Given the description of an element on the screen output the (x, y) to click on. 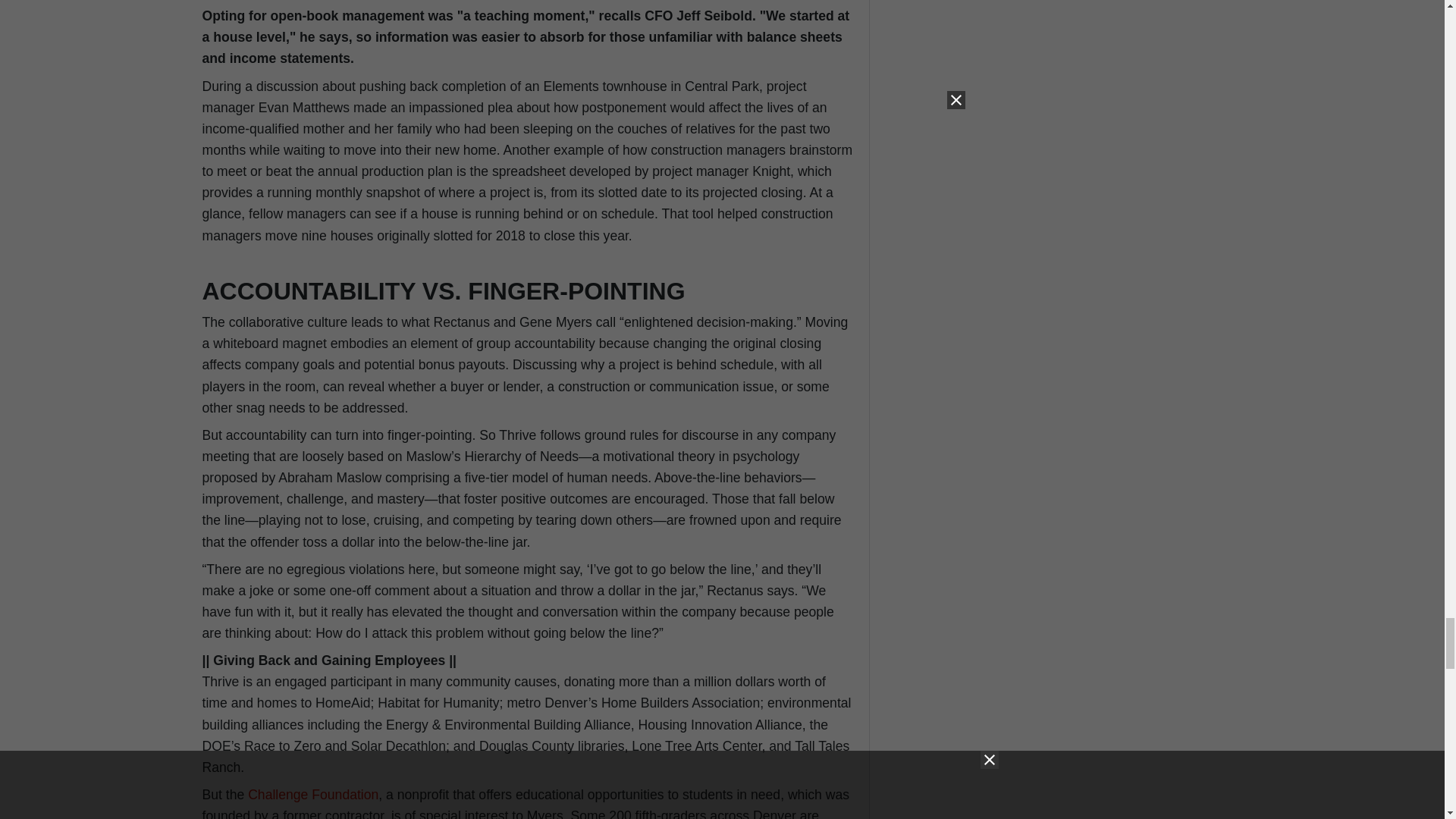
Challenge Foundation (312, 794)
